Given the description of an element on the screen output the (x, y) to click on. 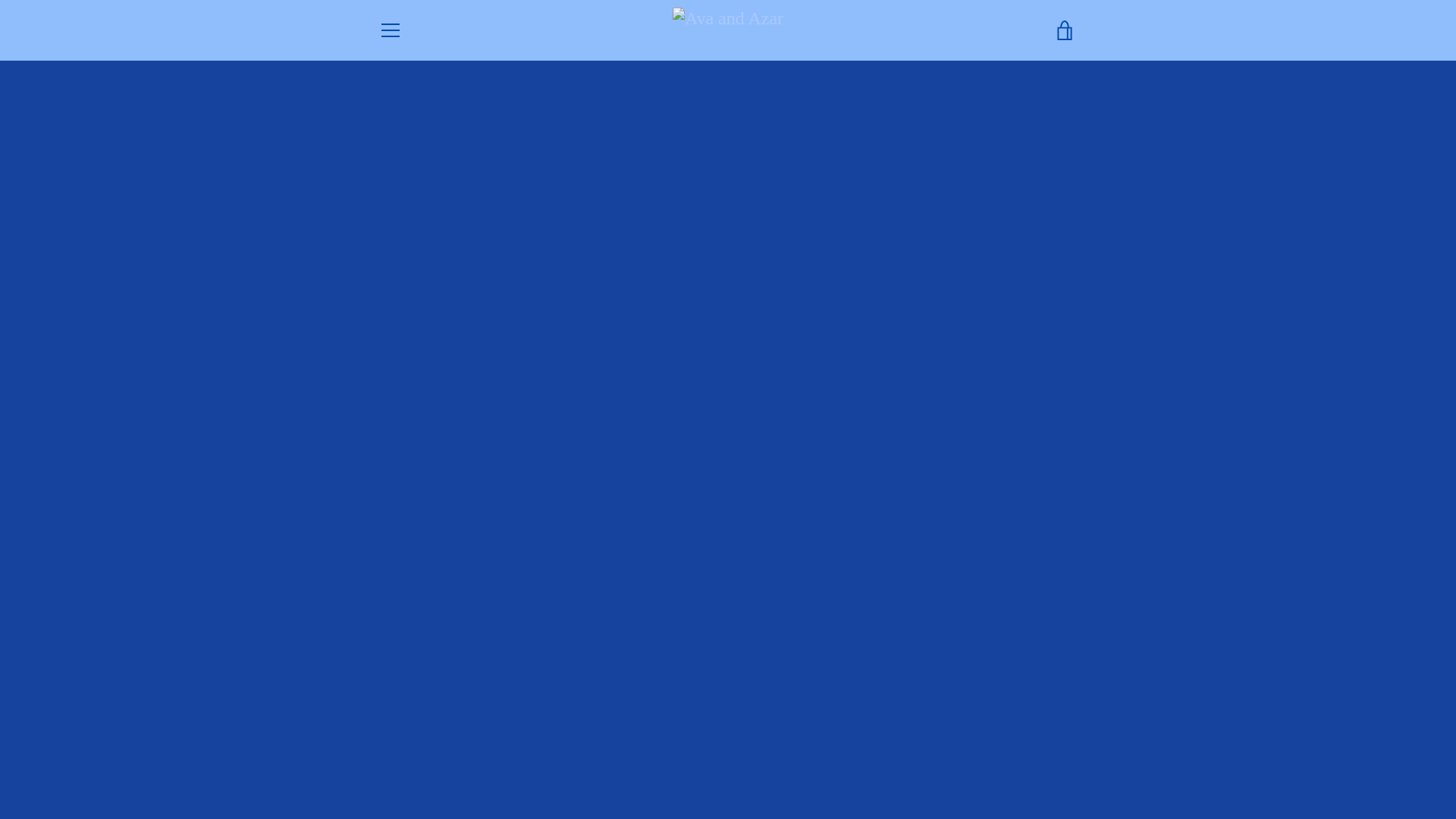
MENU (390, 30)
VIEW CART (1065, 30)
